Given the description of an element on the screen output the (x, y) to click on. 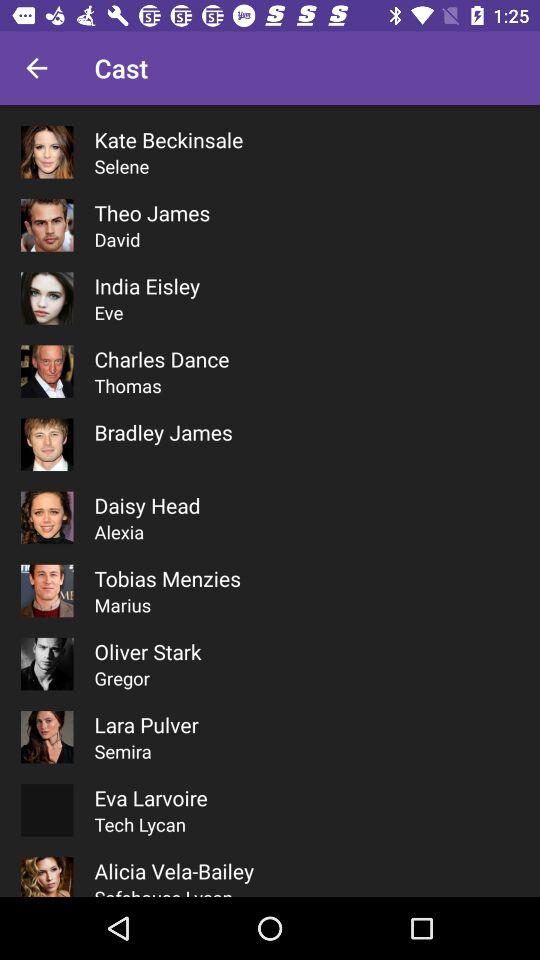
jump to kate beckinsale (168, 139)
